Given the description of an element on the screen output the (x, y) to click on. 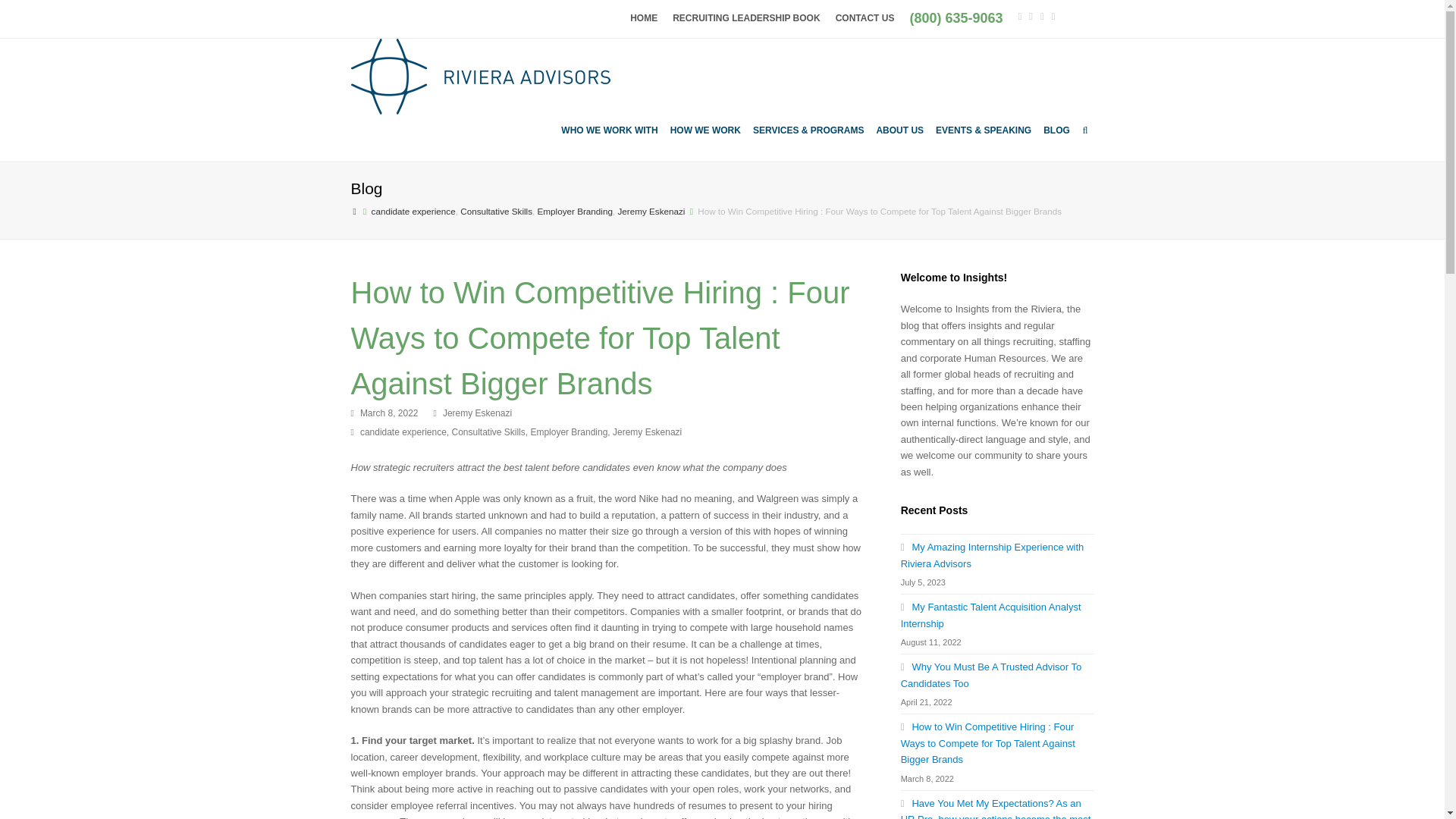
Riviera Advisors (354, 211)
Employer Branding (574, 211)
LinkedIn Profile (1042, 14)
Twitter Profile (1019, 14)
candidate experience (413, 211)
Jeremy Eskenazi (650, 211)
LinkedIn (1042, 14)
Youtube (1053, 14)
BLOG (1056, 130)
SEARCH (1085, 130)
Twitter (1019, 14)
Posts by Jeremy Eskenazi (477, 412)
WHO WE WORK WITH (609, 130)
HOW WE WORK (705, 130)
CONTACT US (865, 18)
